Given the description of an element on the screen output the (x, y) to click on. 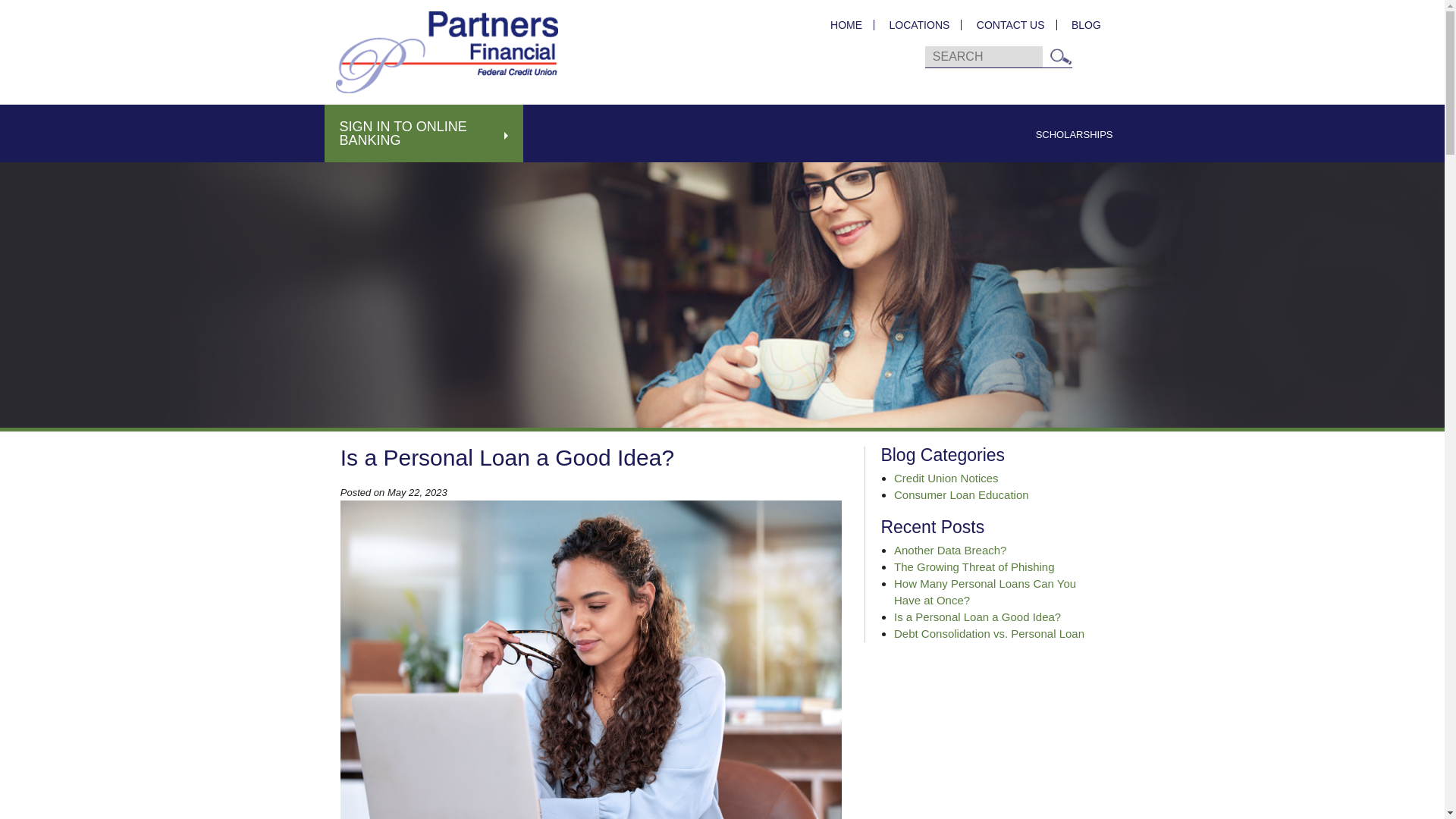
The Growing Threat of Phishing (973, 566)
LOCATIONS (918, 24)
How Many Personal Loans Can You Have at Once? (984, 591)
SCHOLARSHIPS (1074, 134)
HOME (845, 24)
SIGN IN TO ONLINE BANKING (424, 133)
Search (1059, 56)
Is a Personal Loan a Good Idea? (977, 616)
Consumer Loan Education (961, 494)
Debt Consolidation vs. Personal Loan (988, 633)
Search (1059, 56)
BLOG (1079, 24)
Credit Union Notices (945, 477)
CONTACT US (1011, 24)
Another Data Breach? (949, 549)
